Given the description of an element on the screen output the (x, y) to click on. 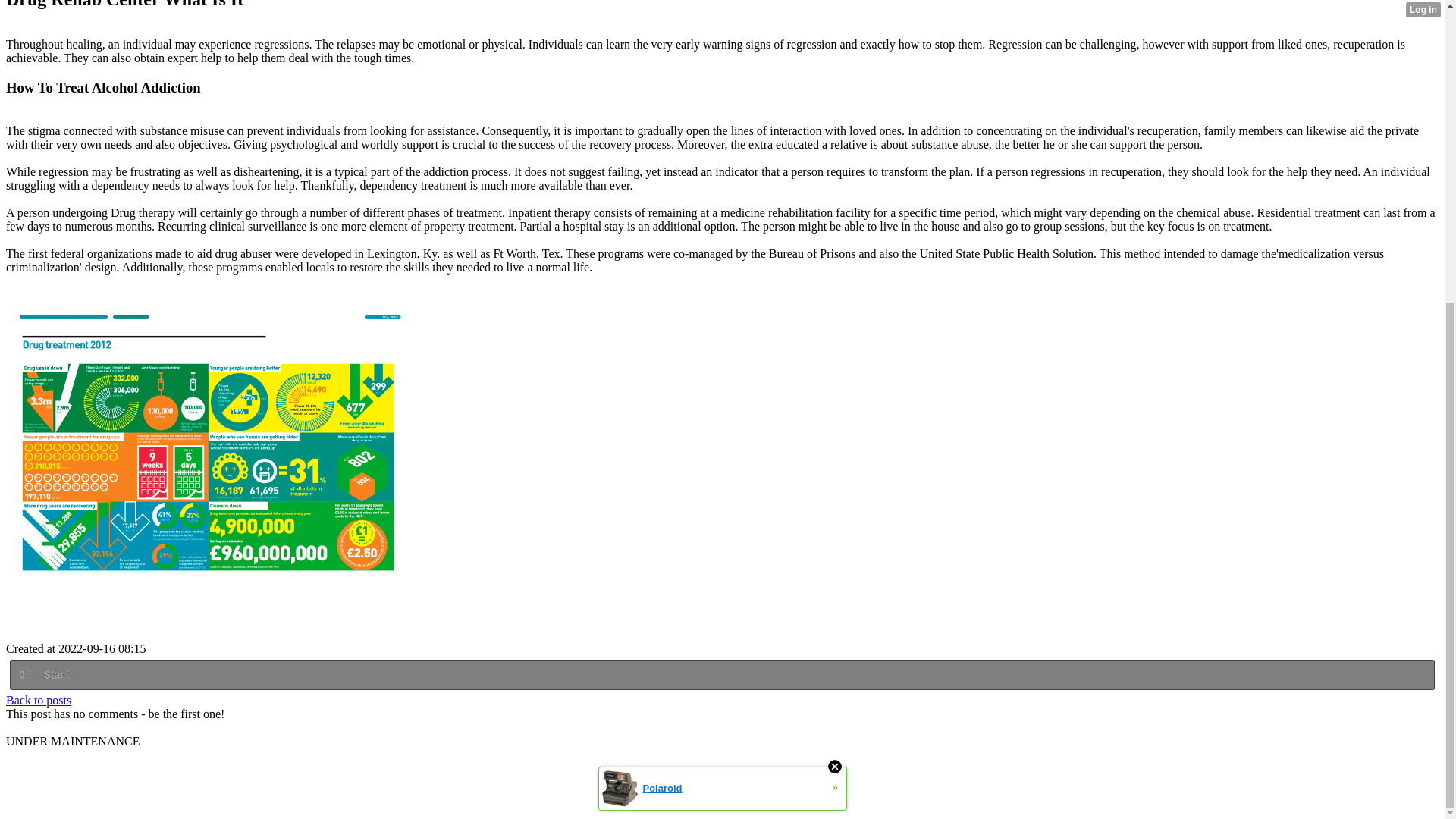
0 (24, 674)
Back to posts (38, 699)
Star (56, 674)
